Given the description of an element on the screen output the (x, y) to click on. 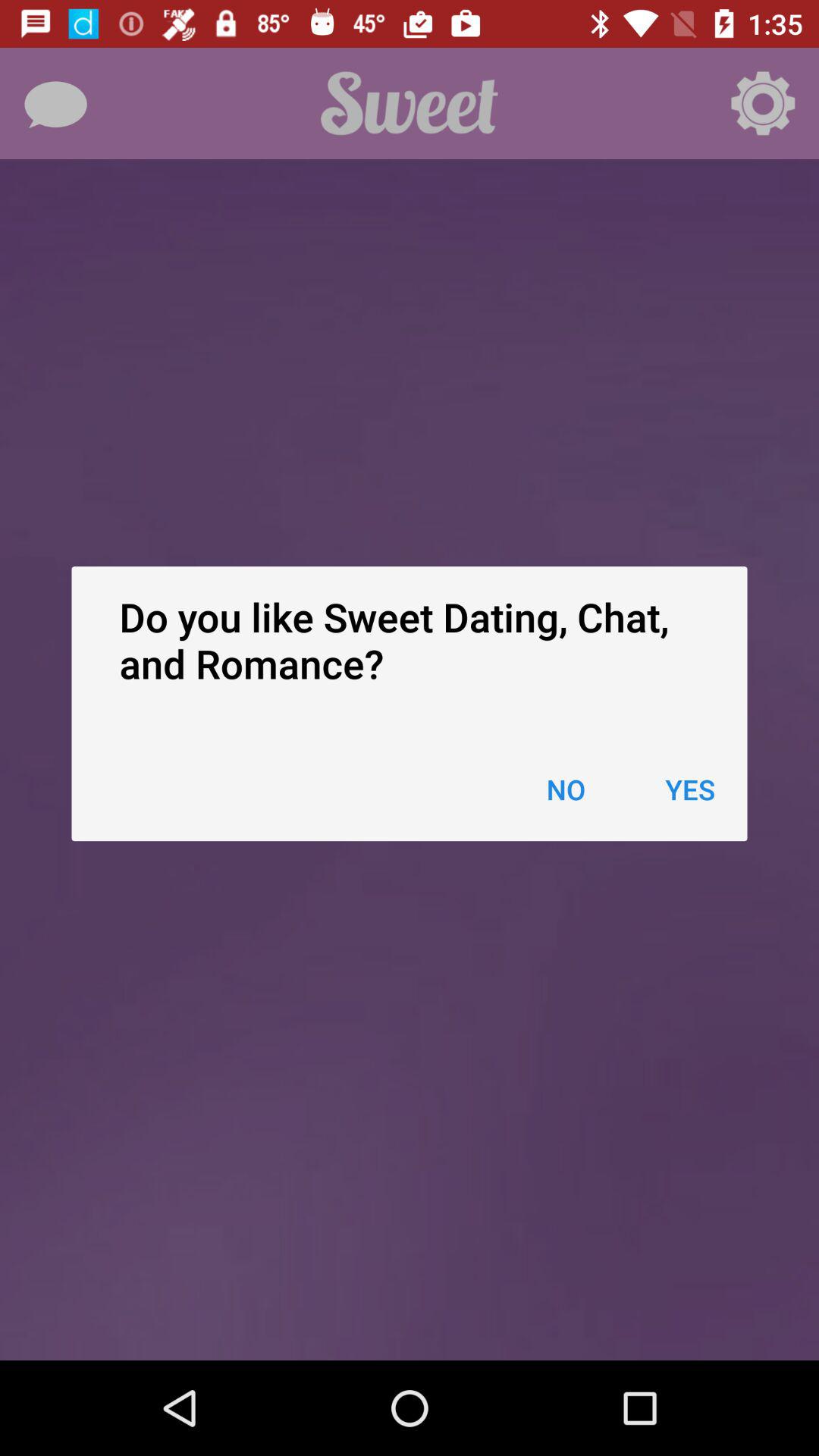
launch the item below do you like icon (565, 789)
